Given the description of an element on the screen output the (x, y) to click on. 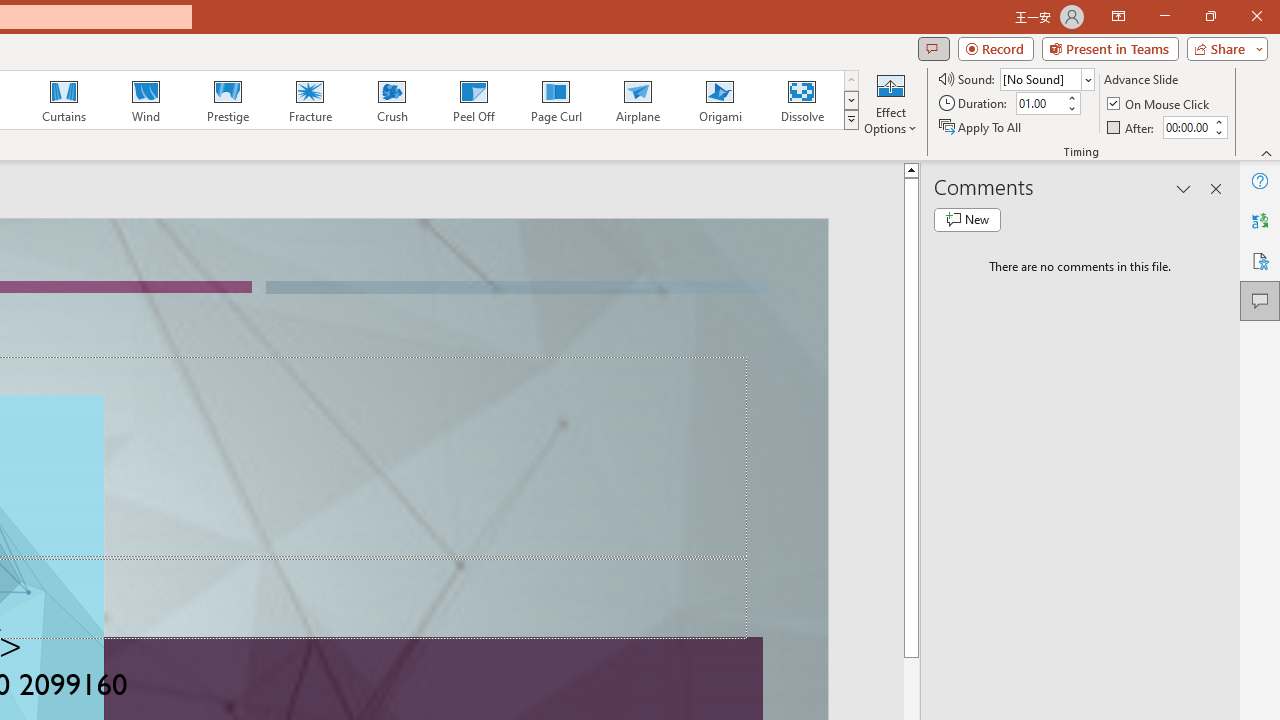
Comments (933, 48)
Open (1087, 79)
Sound (1046, 78)
Present in Teams (1109, 48)
Share (1223, 48)
Row up (850, 79)
Apply To All (981, 126)
Translator (1260, 220)
Minimize (1164, 16)
Peel Off (473, 100)
After (1131, 126)
Less (1218, 132)
Class: NetUIImage (851, 119)
Line up (911, 169)
Prestige (227, 100)
